Given the description of an element on the screen output the (x, y) to click on. 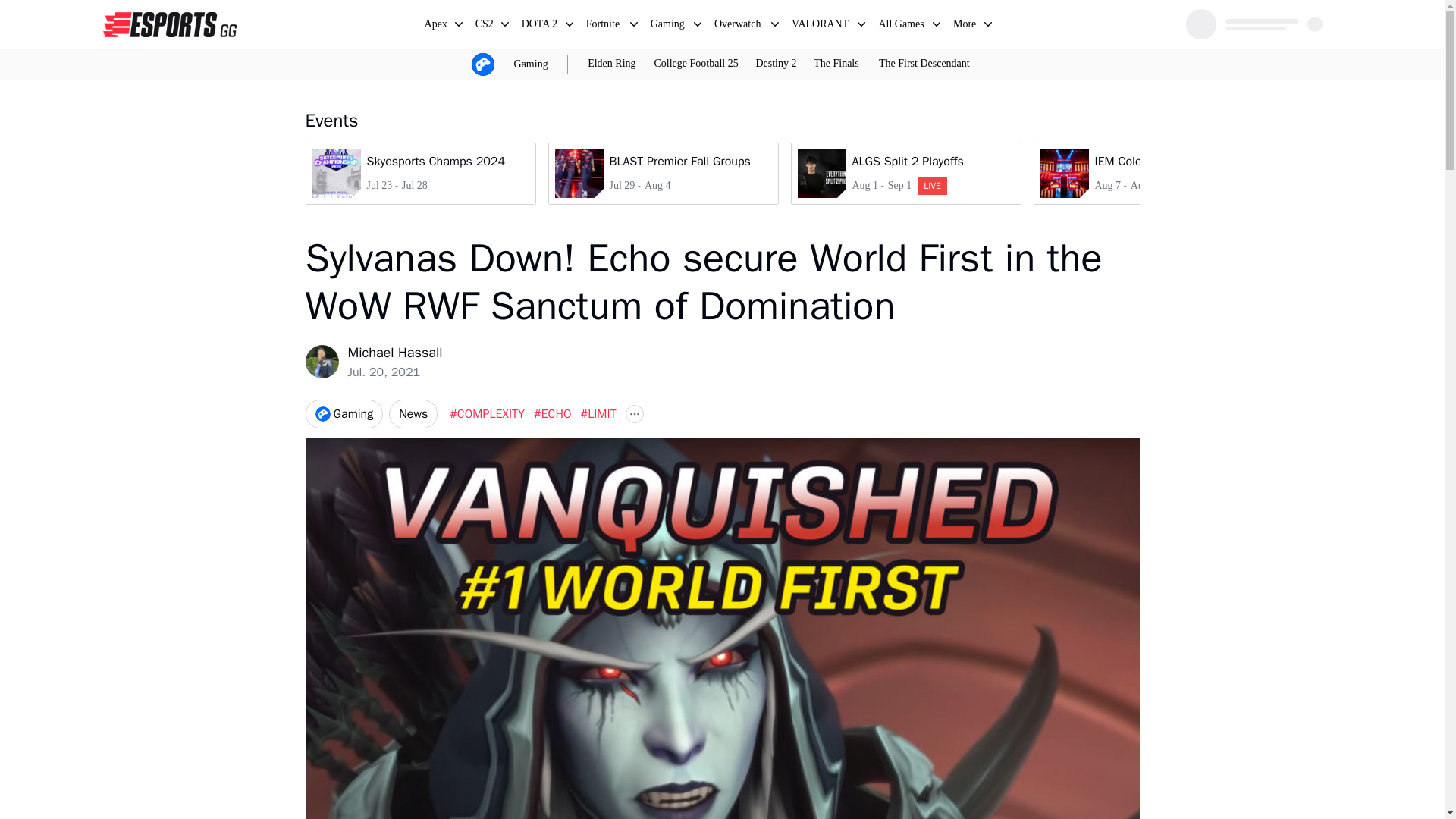
The First Descendant (905, 173)
The First Descendant (924, 64)
VALORANT (924, 64)
College Football 25 (821, 25)
Fortnite (695, 64)
CS2 (662, 173)
Destiny 2 (604, 25)
CS2 (485, 25)
